Given the description of an element on the screen output the (x, y) to click on. 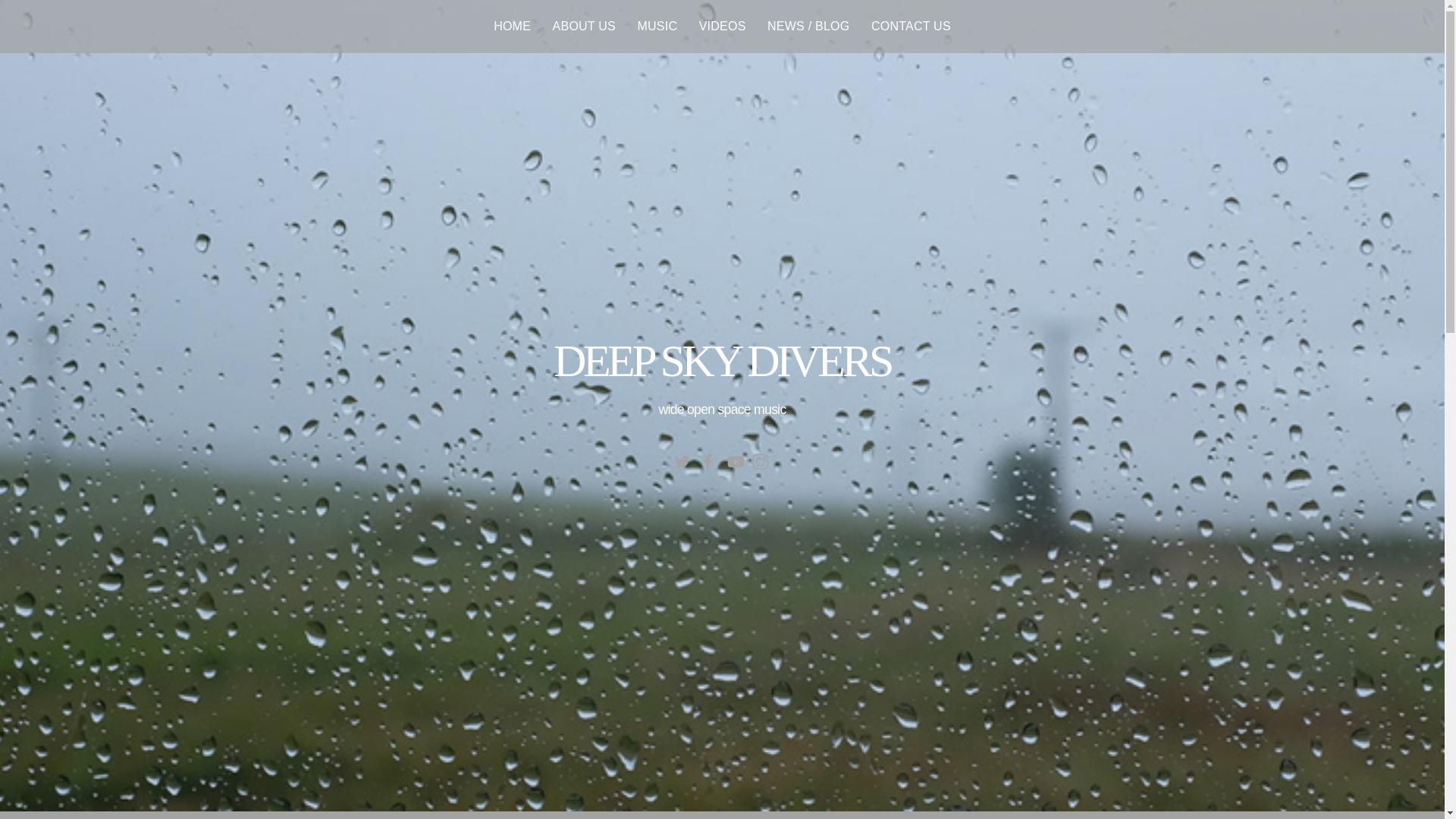
VIDEOS (721, 26)
MUSIC (657, 26)
deep sky divers (722, 360)
CONTACT US (910, 26)
DEEP SKY DIVERS (722, 360)
HOME (512, 26)
ABOUT US (584, 26)
